Given the description of an element on the screen output the (x, y) to click on. 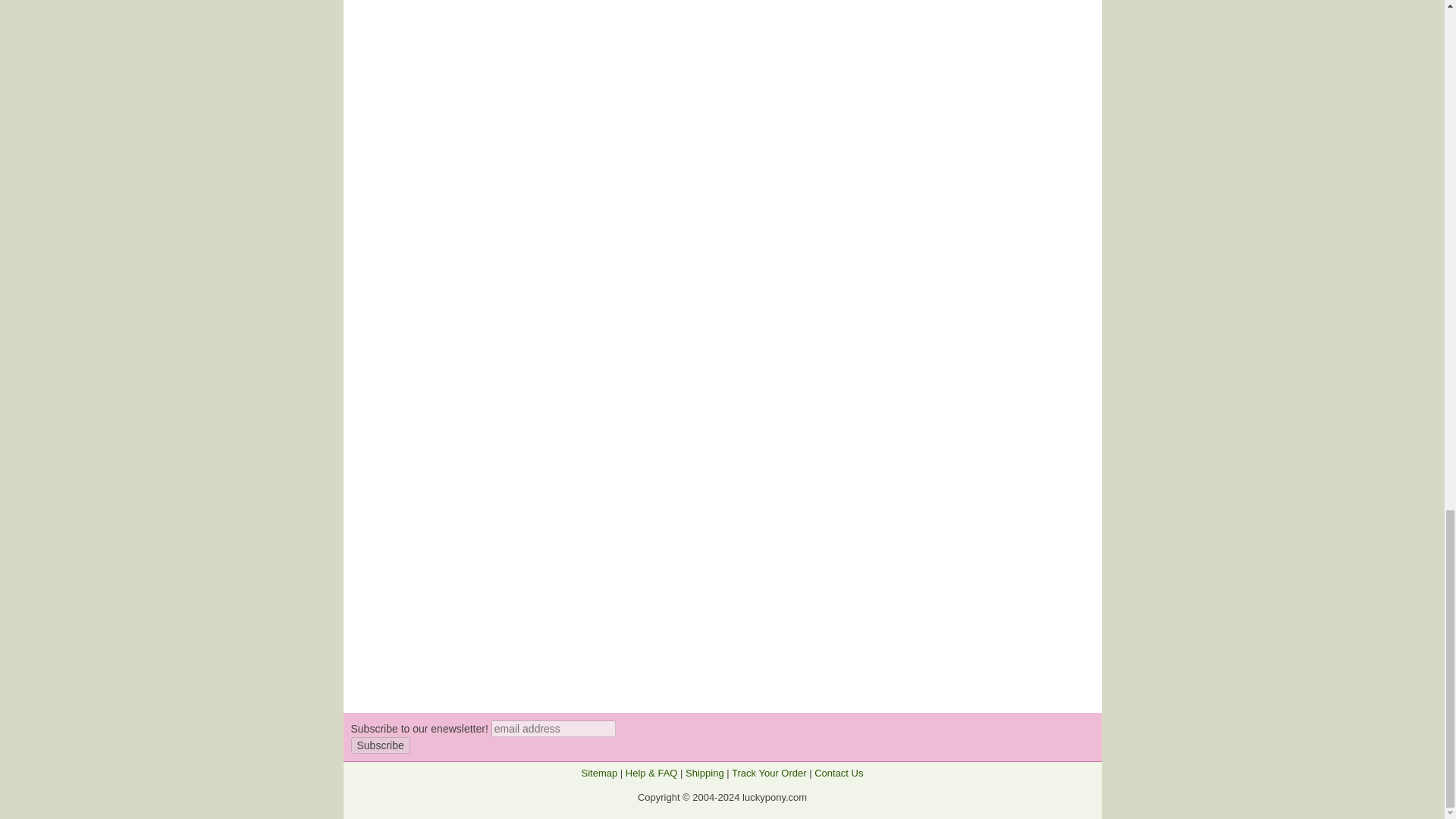
Subscribe (379, 745)
